Given the description of an element on the screen output the (x, y) to click on. 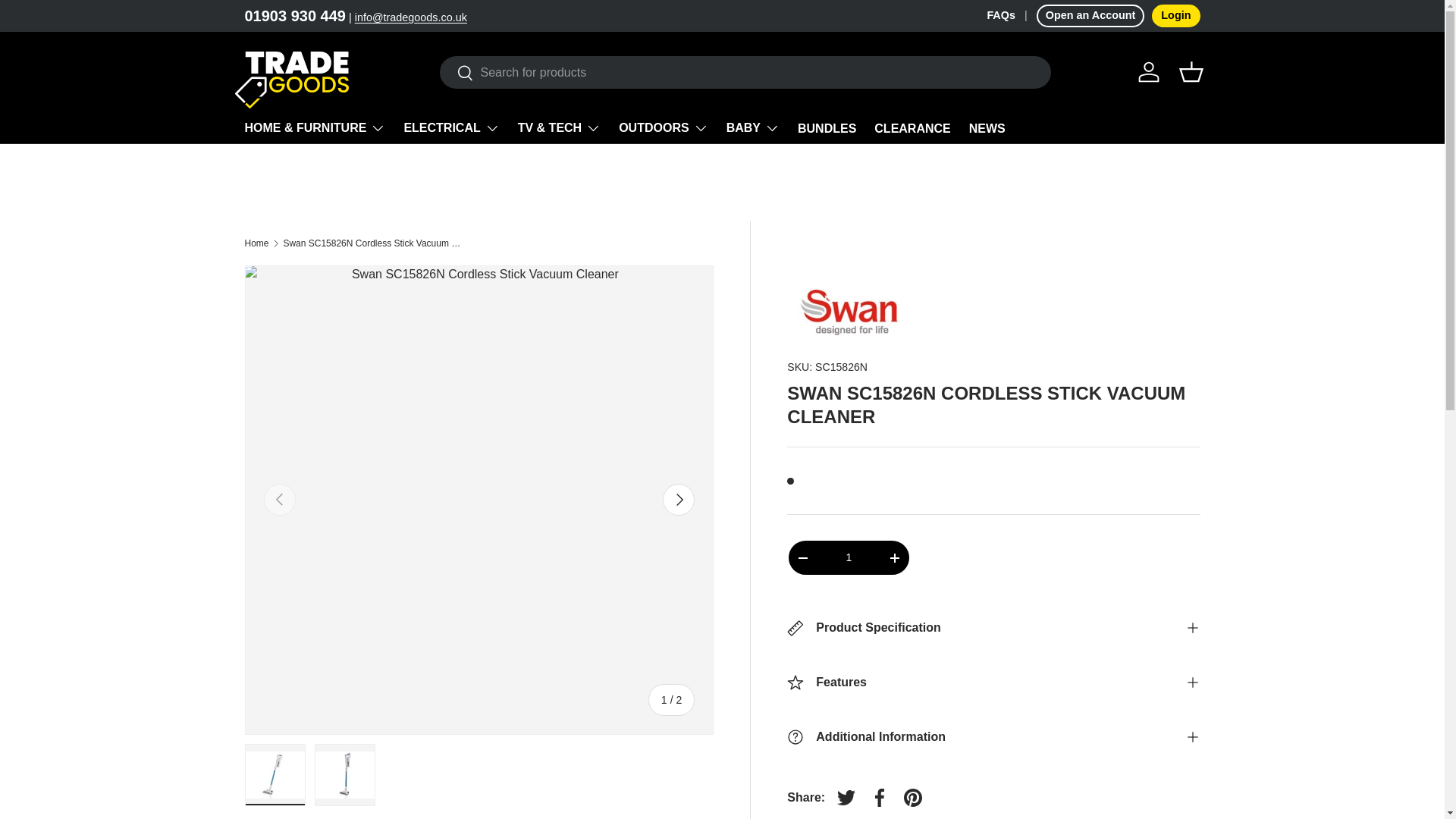
Login (1175, 15)
1 (847, 557)
Open an Account (1090, 15)
FAQs (1011, 15)
Search (456, 73)
Basket (1190, 71)
Log in (1147, 71)
SKIP TO CONTENT (69, 21)
